Given the description of an element on the screen output the (x, y) to click on. 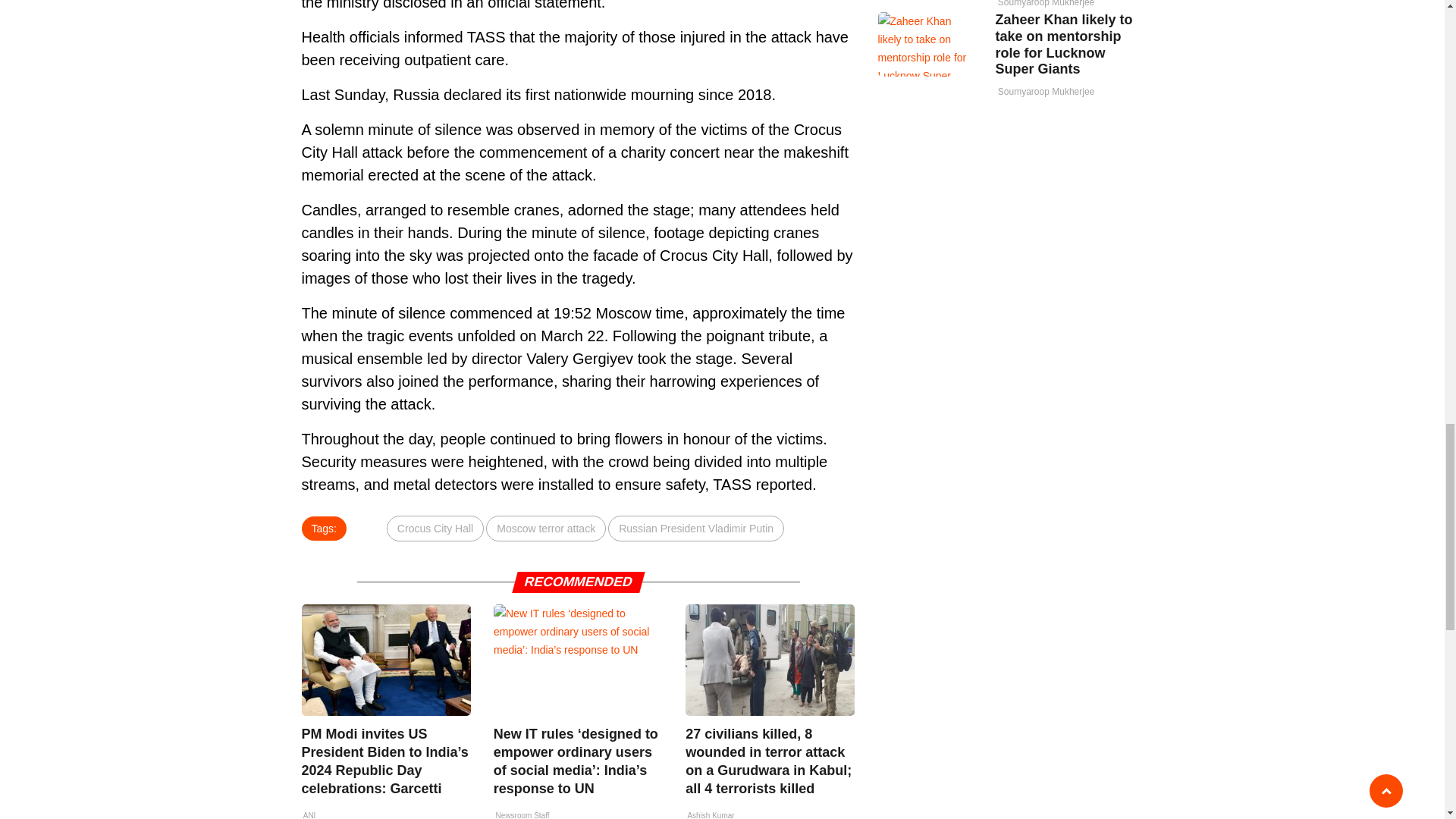
Russian President Vladimir Putin (696, 528)
Crocus City Hall (435, 528)
Moscow terror attack (545, 528)
